Given the description of an element on the screen output the (x, y) to click on. 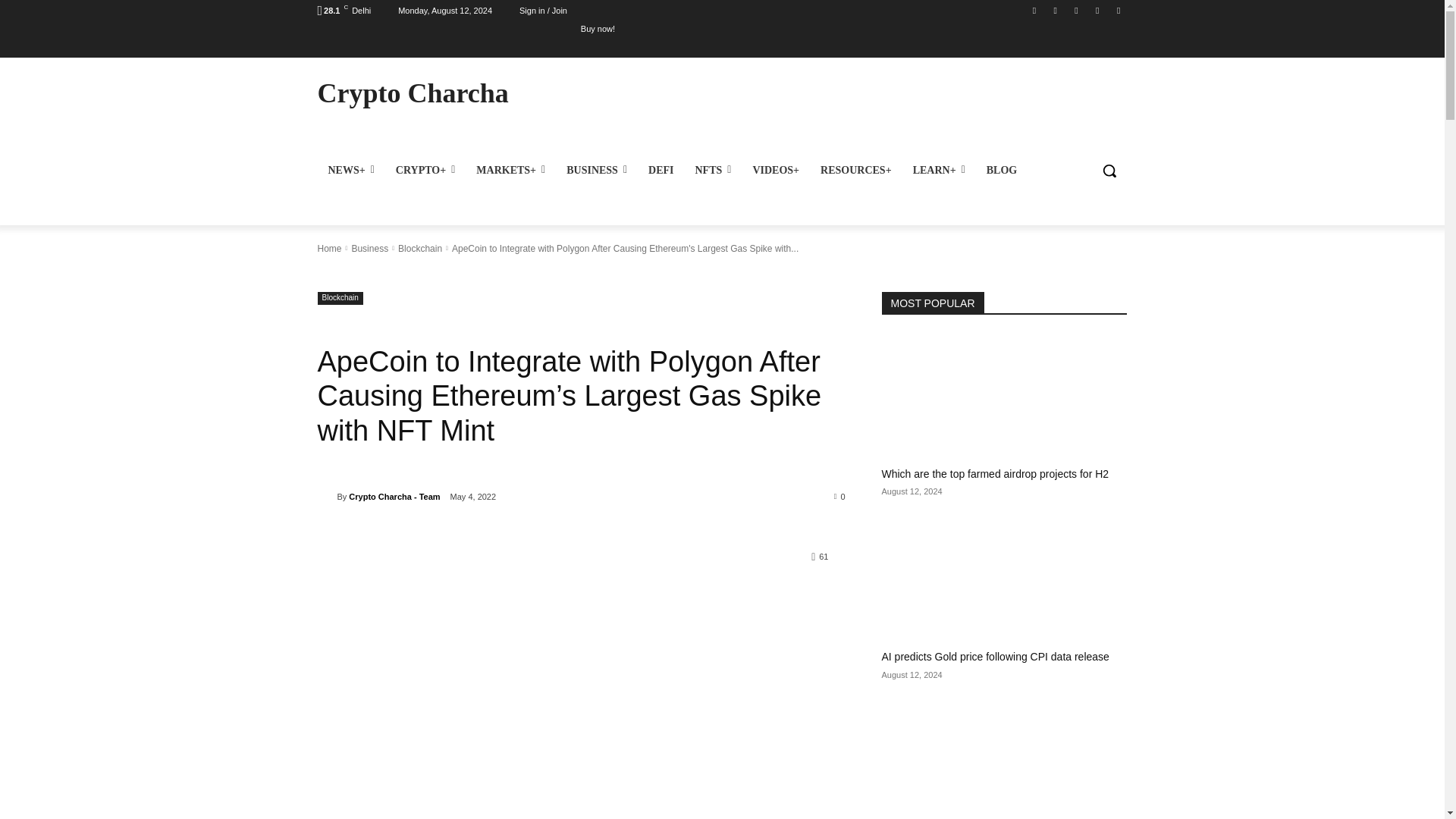
Crypto Charcha - Team (326, 496)
Telegram (1097, 9)
Instagram (1055, 9)
Reddit (1075, 9)
Twitter (1117, 9)
Facebook (1034, 9)
View all posts in Blockchain (419, 248)
View all posts in Business (369, 248)
